Given the description of an element on the screen output the (x, y) to click on. 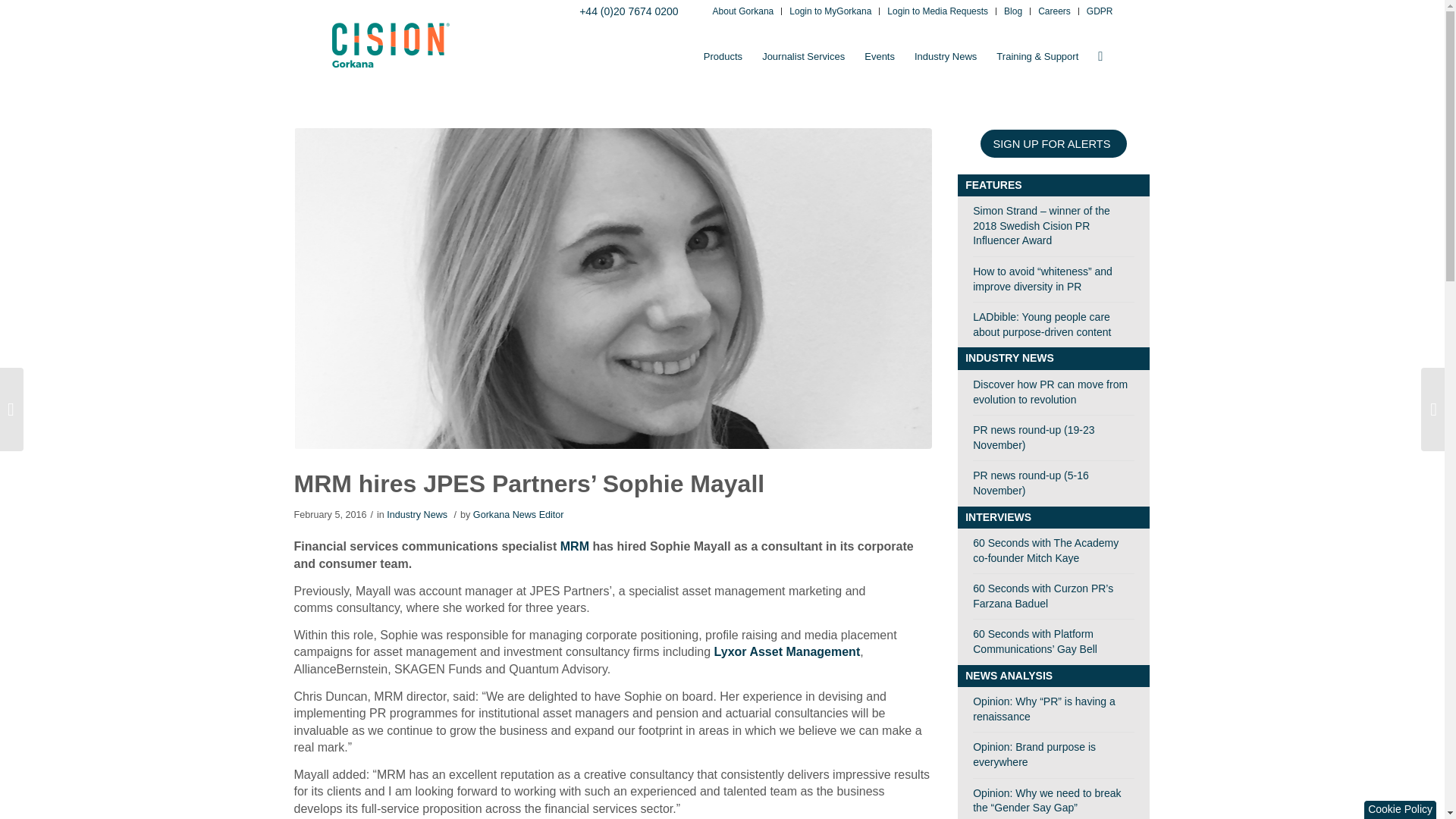
Login to Media Requests (937, 12)
Login to MyGorkana (829, 12)
Journalist Services (803, 56)
GDPR (1099, 12)
Posts by Gorkana News Editor (518, 514)
About Gorkana (743, 12)
Careers (1054, 12)
Industry News (945, 56)
